Given the description of an element on the screen output the (x, y) to click on. 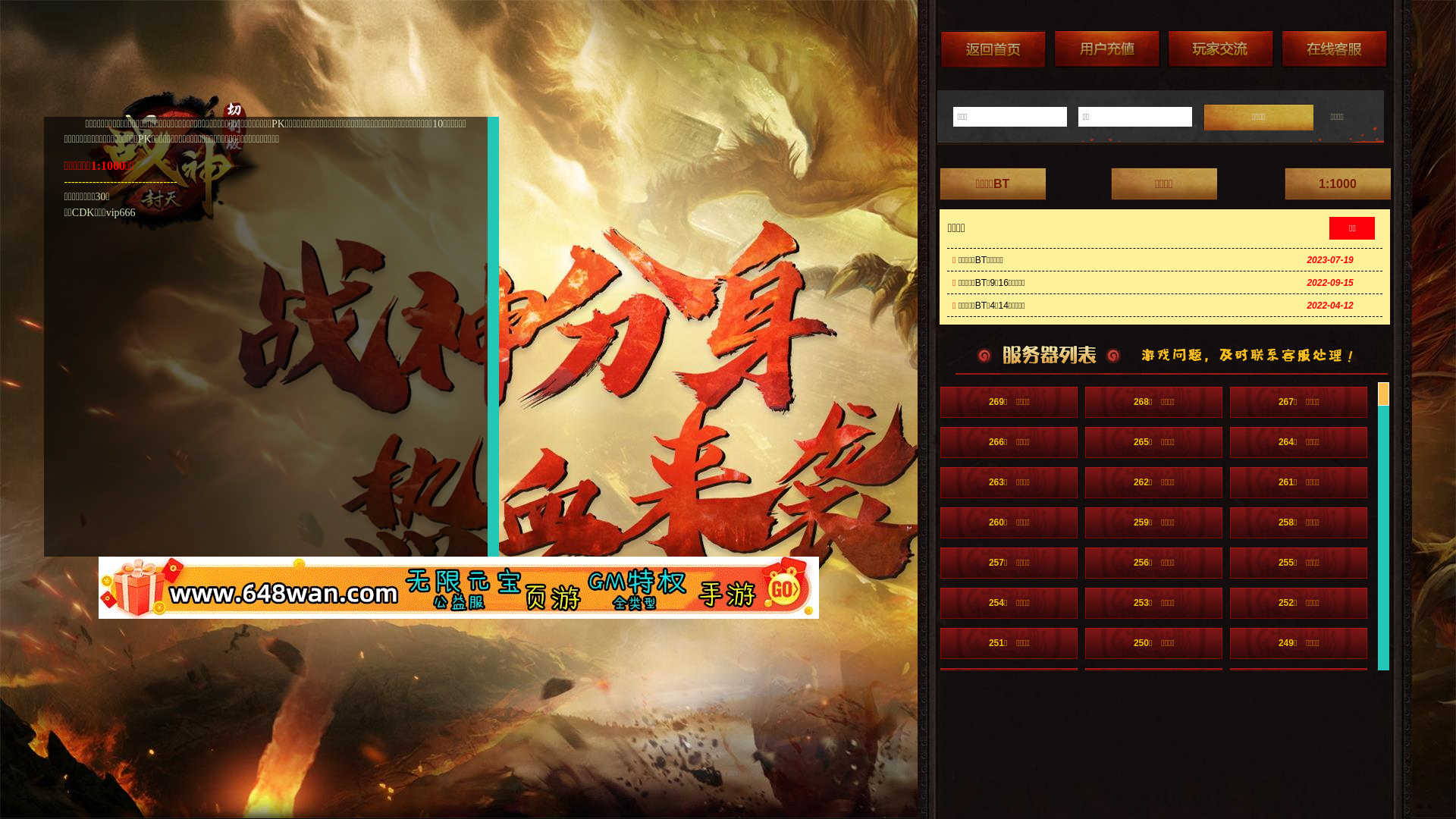
1:1000 Element type: text (1337, 183)
